Given the description of an element on the screen output the (x, y) to click on. 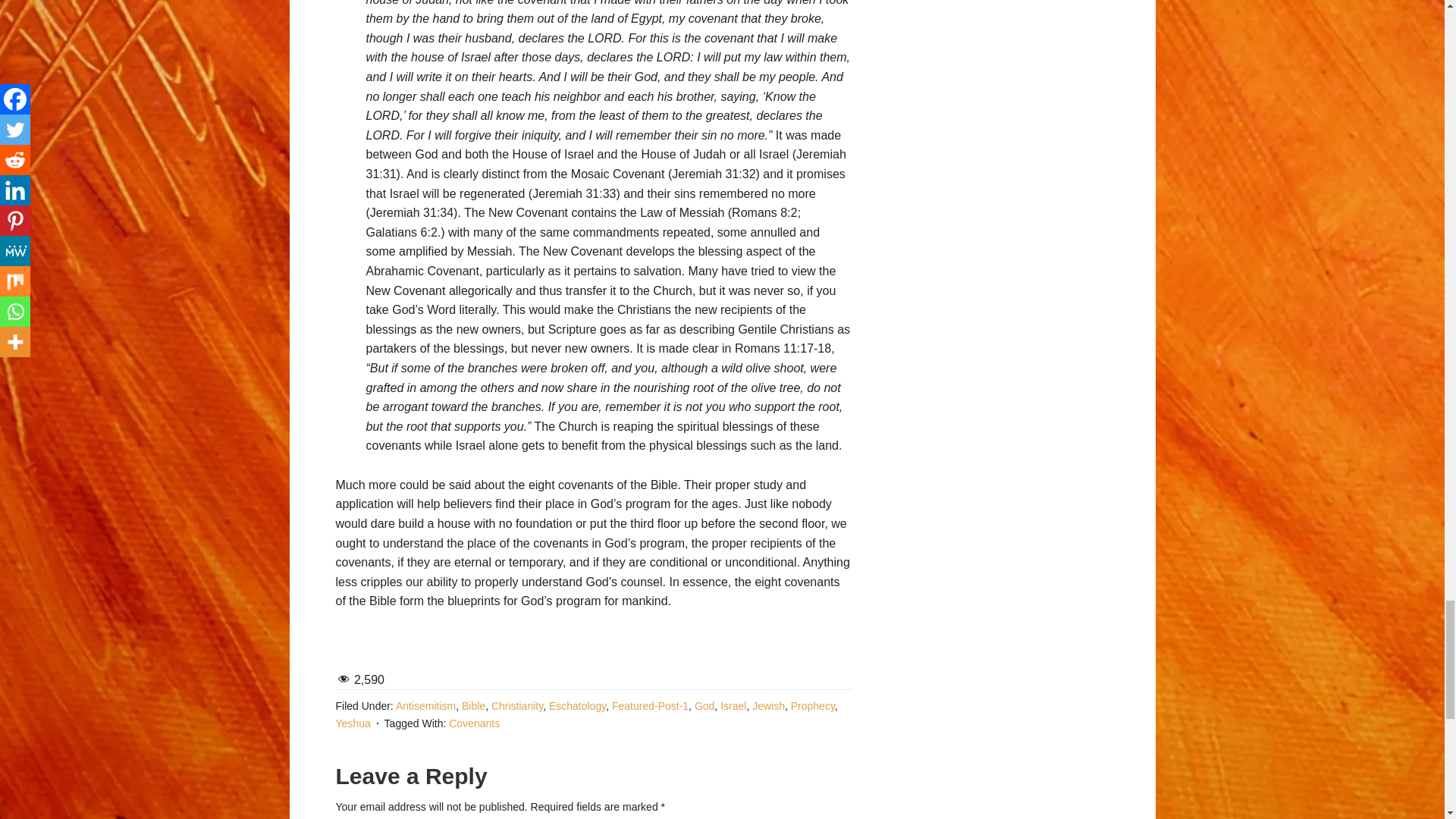
Antisemitism (425, 705)
Christianity (517, 705)
Bible (472, 705)
